Given the description of an element on the screen output the (x, y) to click on. 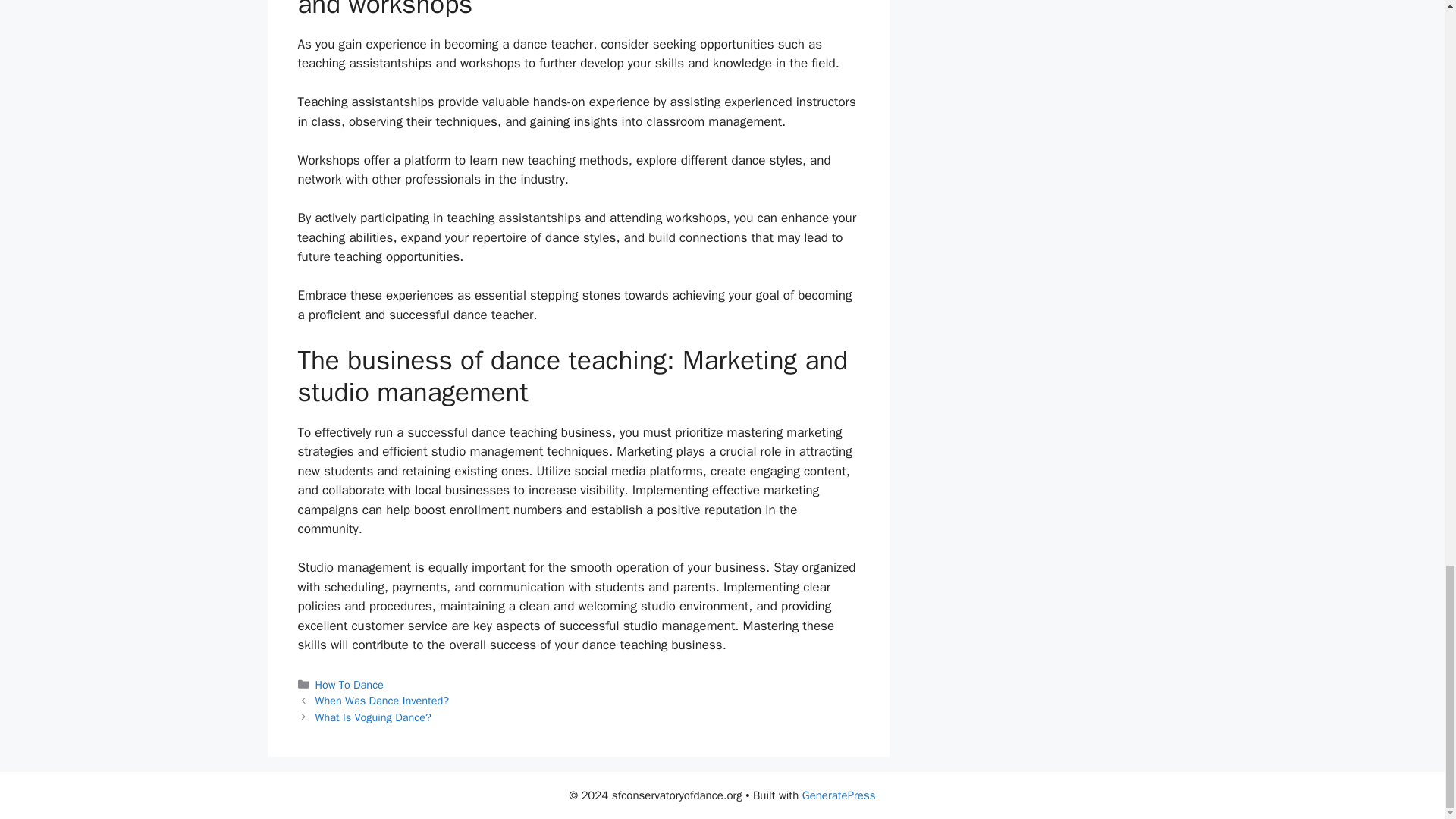
When Was Dance Invented? (381, 700)
How To Dance (349, 684)
What Is Voguing Dance? (372, 716)
GeneratePress (839, 795)
